Given the description of an element on the screen output the (x, y) to click on. 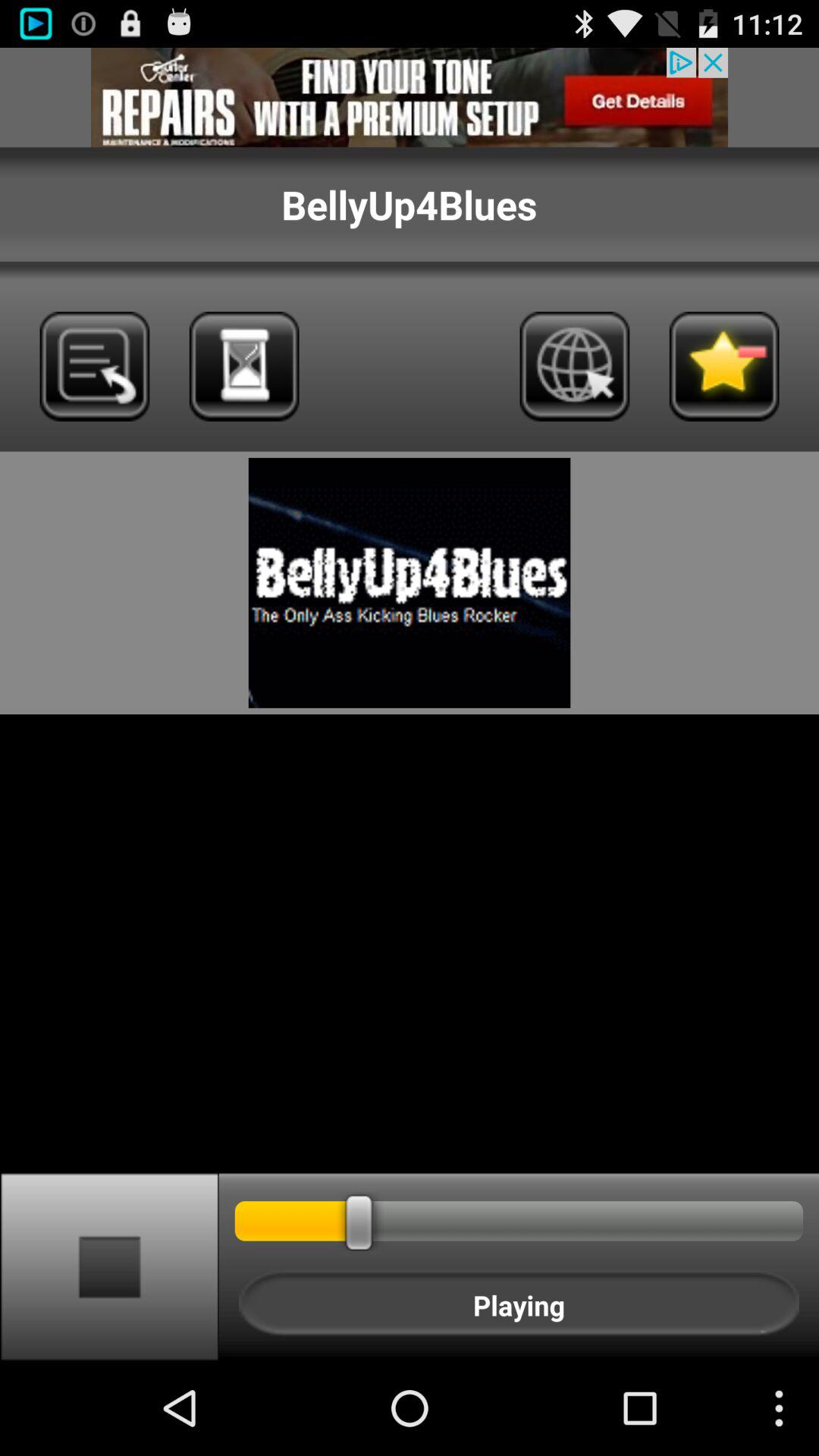
internet/global research option (574, 366)
